Given the description of an element on the screen output the (x, y) to click on. 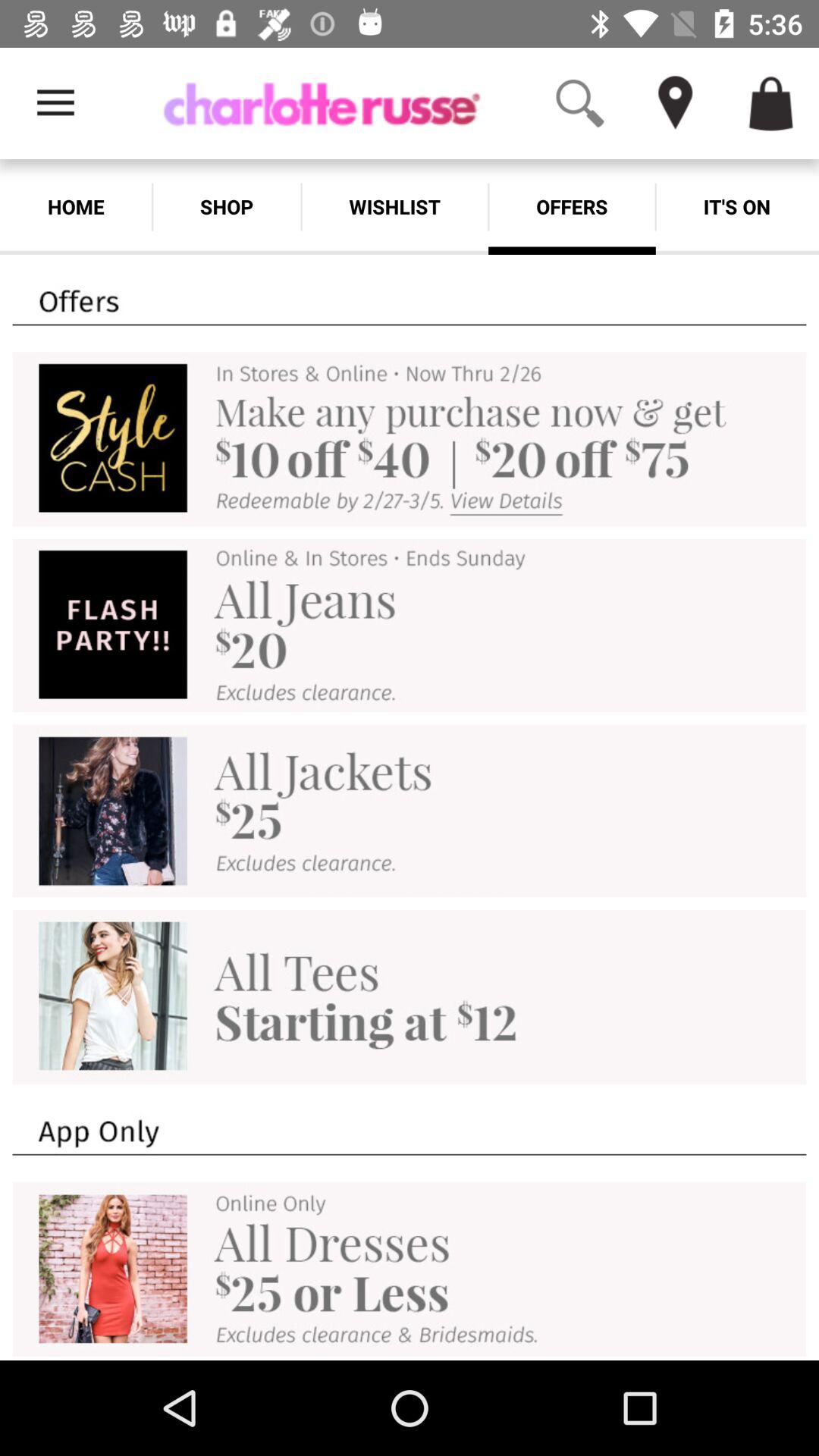
click the app to the right of shop item (394, 206)
